Given the description of an element on the screen output the (x, y) to click on. 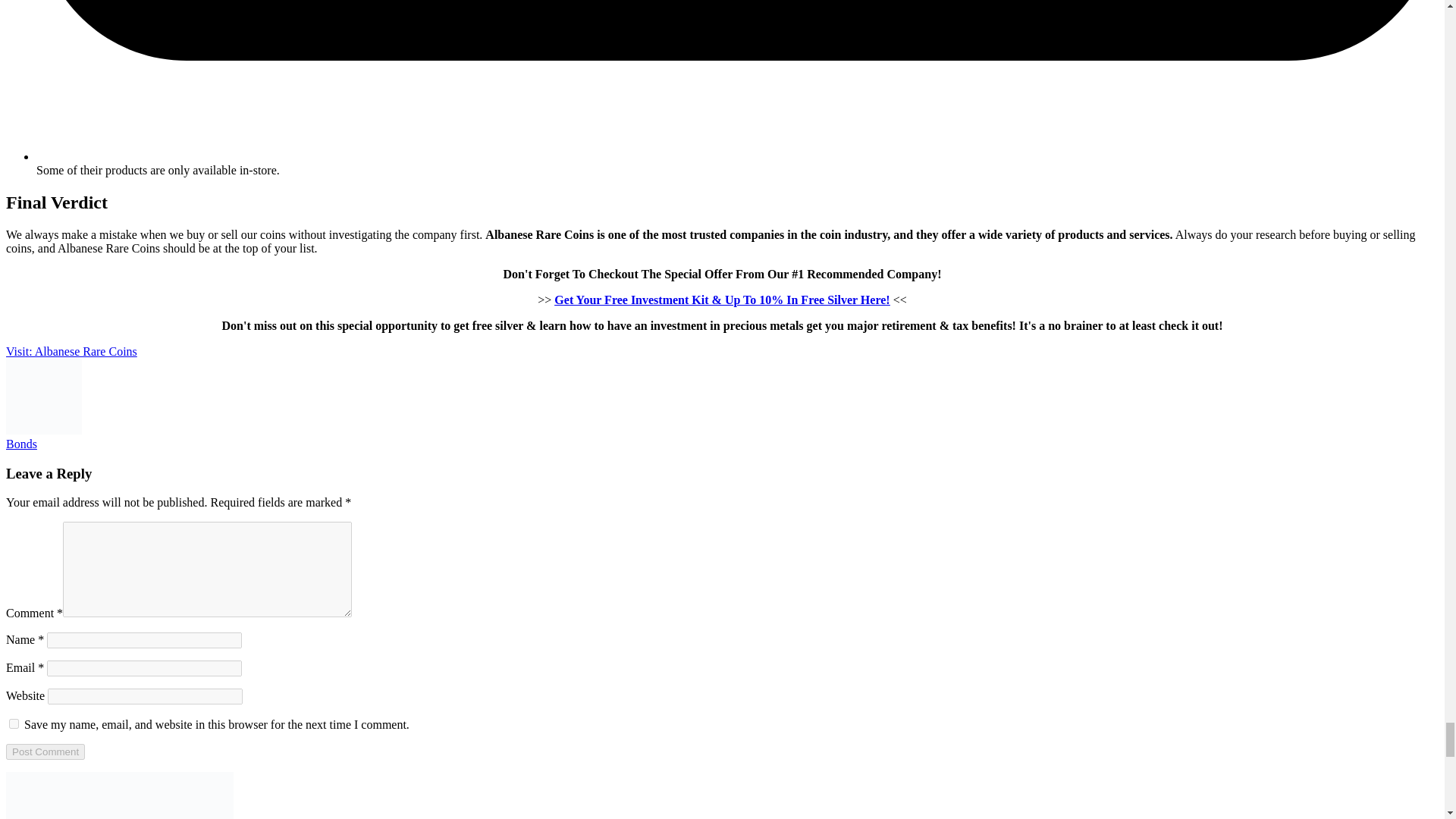
Post Comment (44, 751)
Bonds (21, 443)
Visit: Albanese Rare Coins (70, 350)
Post Comment (44, 751)
yes (13, 723)
